Given the description of an element on the screen output the (x, y) to click on. 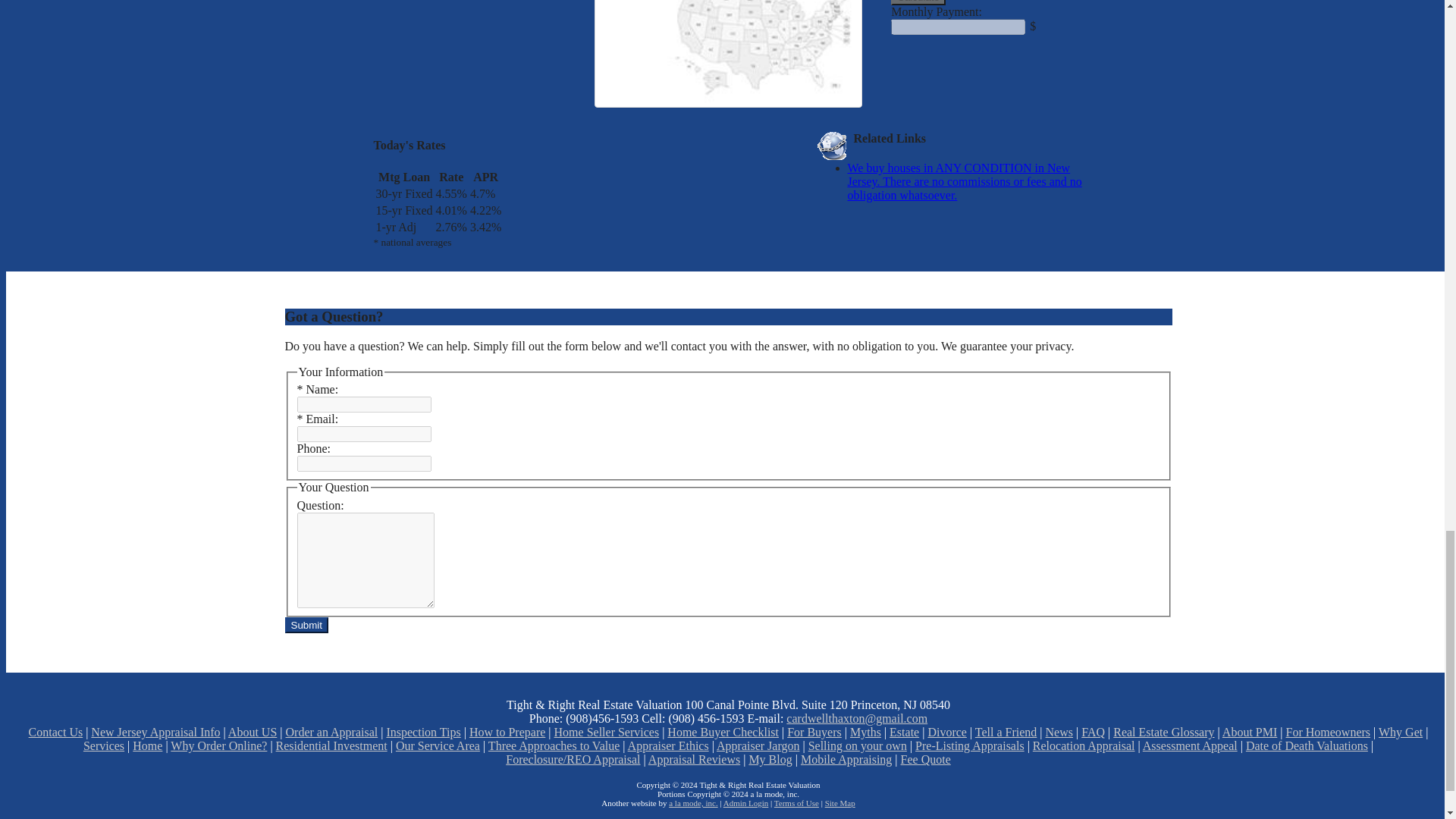
Calculate (917, 2)
Submit (307, 625)
